Given the description of an element on the screen output the (x, y) to click on. 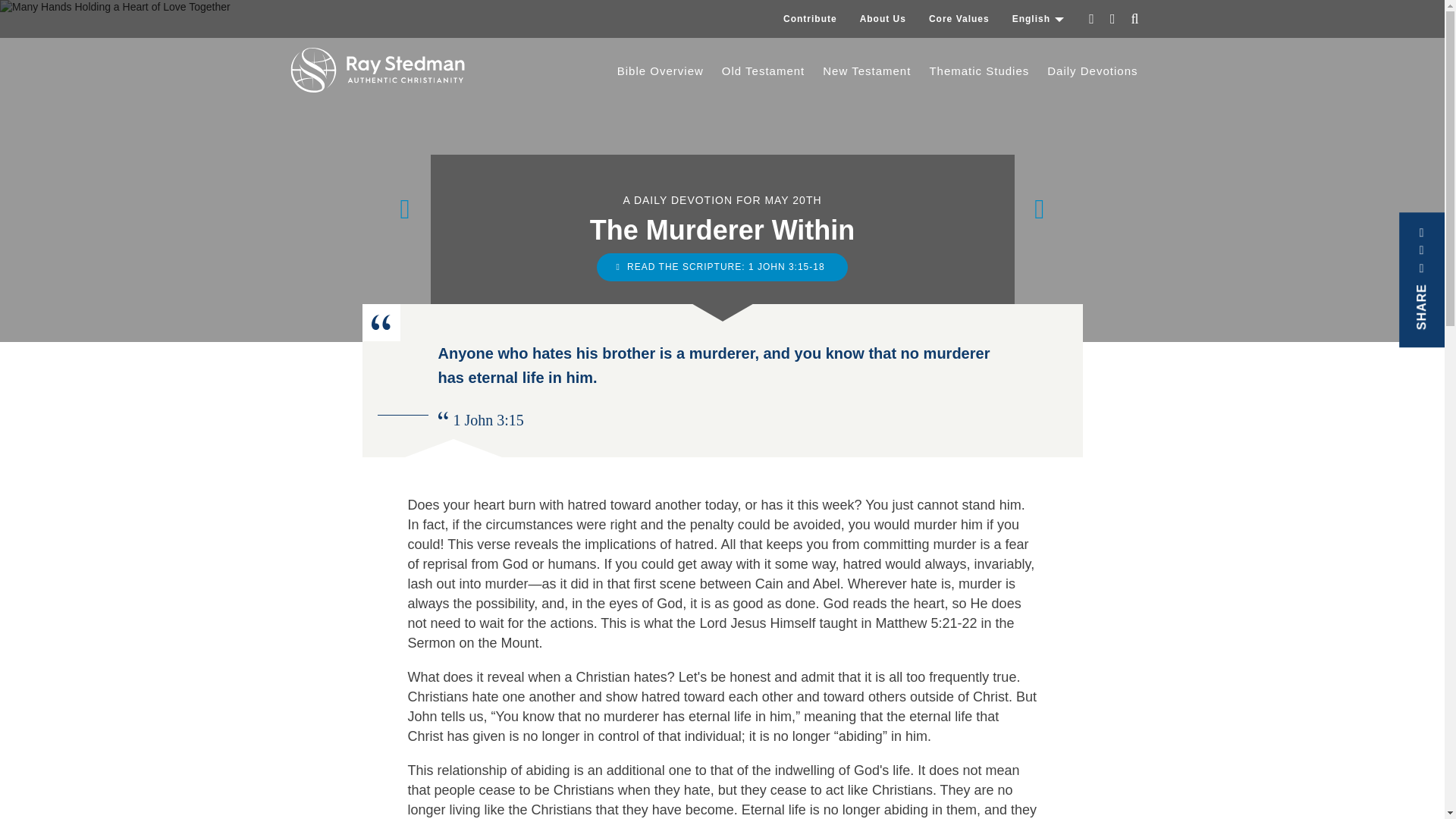
Old Testament (763, 70)
Contribute (809, 18)
Thematic Studies (979, 70)
About Us (882, 18)
Core Values (959, 18)
New Testament (866, 70)
Thematic Studies (979, 70)
Old Testament (763, 70)
English (1038, 18)
